Given the description of an element on the screen output the (x, y) to click on. 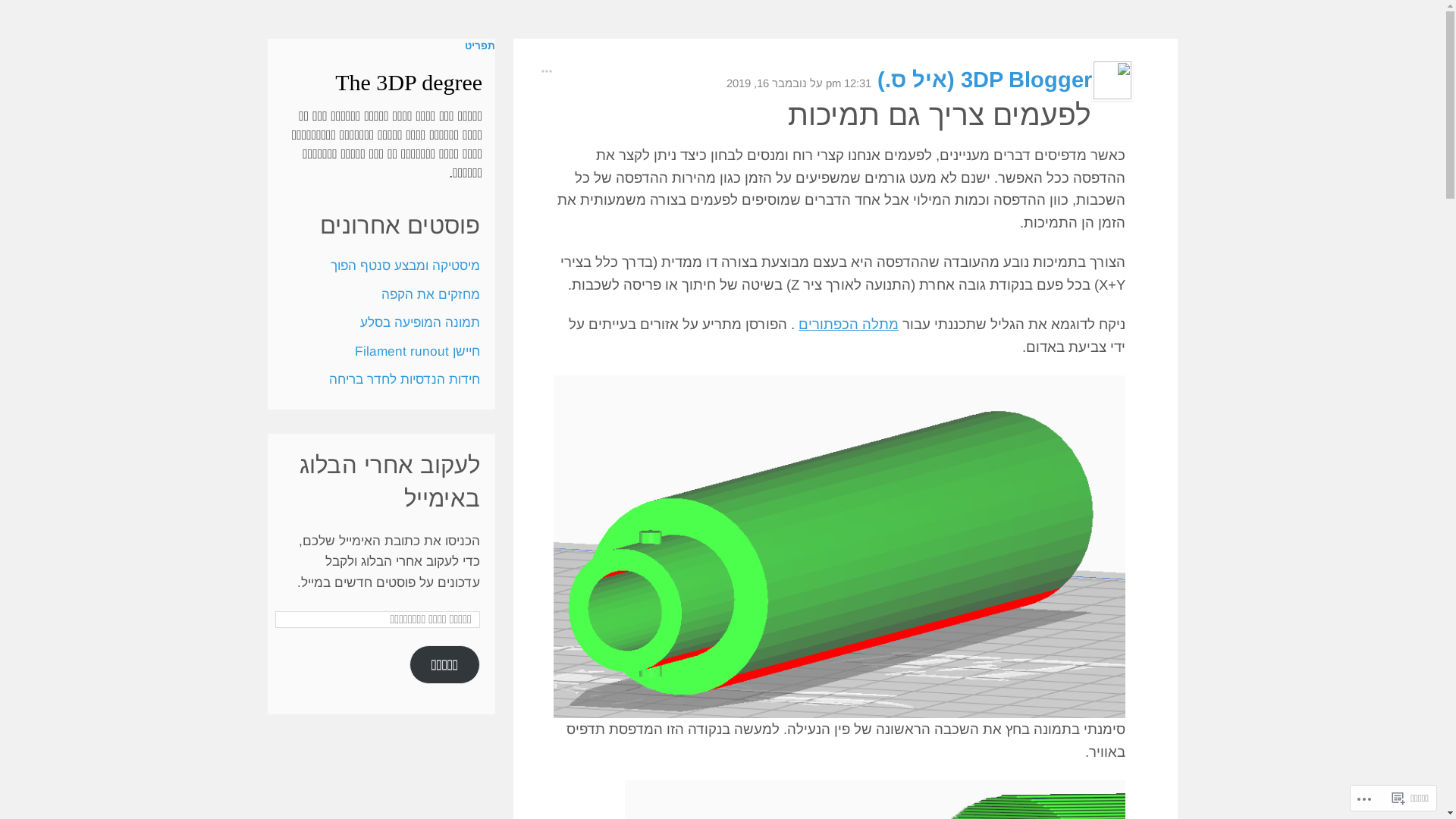
The 3DP degree Element type: text (408, 81)
